Given the description of an element on the screen output the (x, y) to click on. 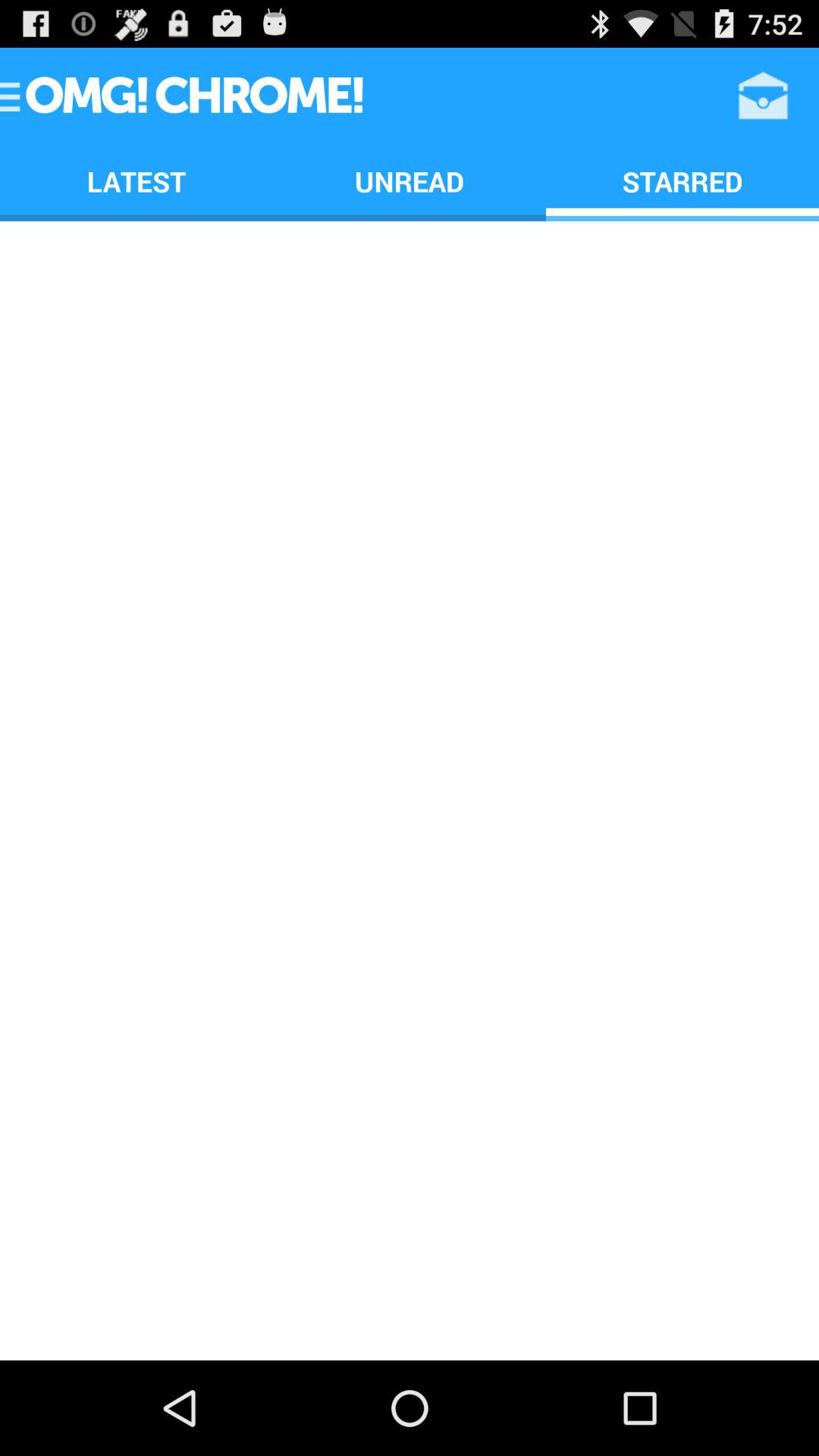
launch the unread (409, 181)
